Given the description of an element on the screen output the (x, y) to click on. 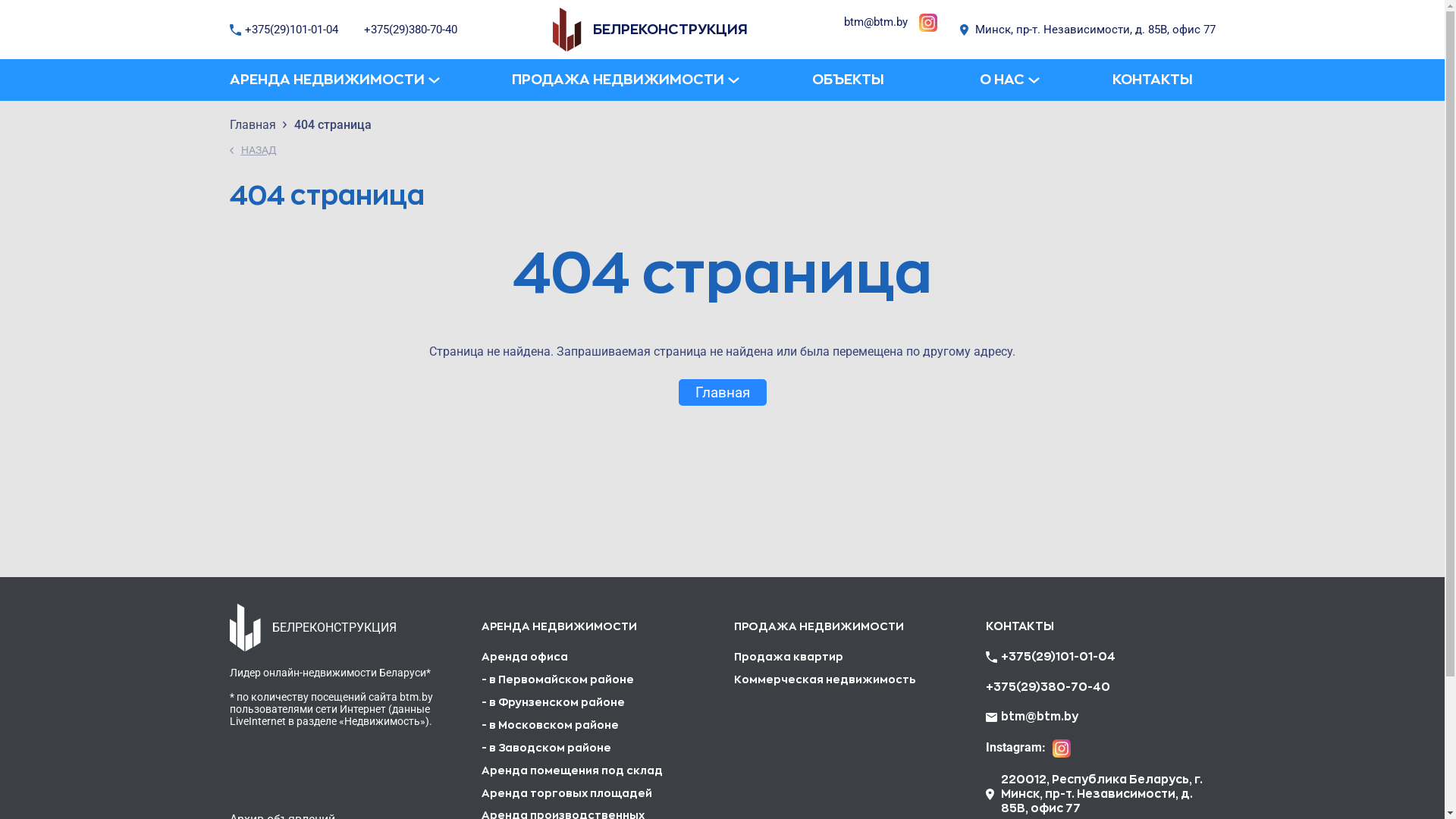
+375(29)380-70-40 Element type: text (1047, 687)
instagram Element type: hover (928, 22)
btm@btm.by Element type: text (1039, 716)
+375(29)101-01-04  Element type: text (1051, 656)
+375(29)101-01-04  Element type: text (284, 29)
btm@btm.by Element type: text (874, 22)
+375(29)380-70-40 Element type: text (410, 29)
